Given the description of an element on the screen output the (x, y) to click on. 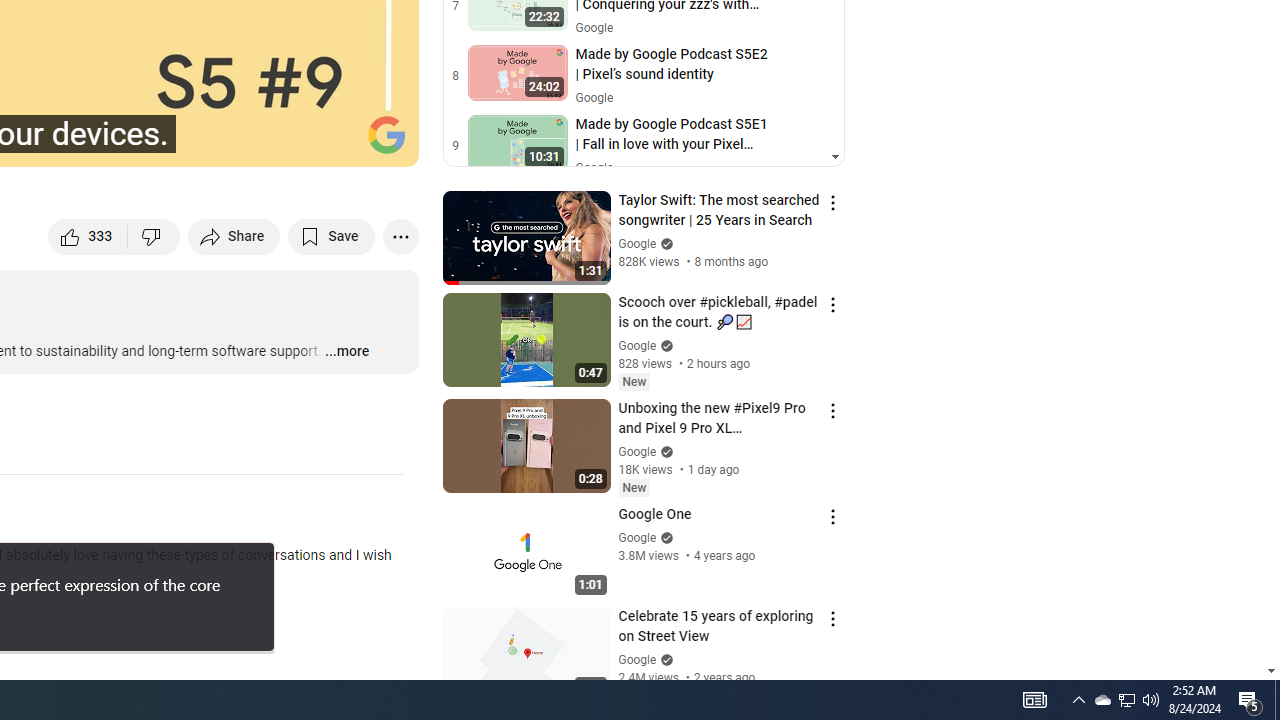
Channel watermark (386, 134)
Theater mode (t) (333, 142)
Full screen (f) (382, 142)
Save to playlist (331, 236)
More actions (399, 236)
